Given the description of an element on the screen output the (x, y) to click on. 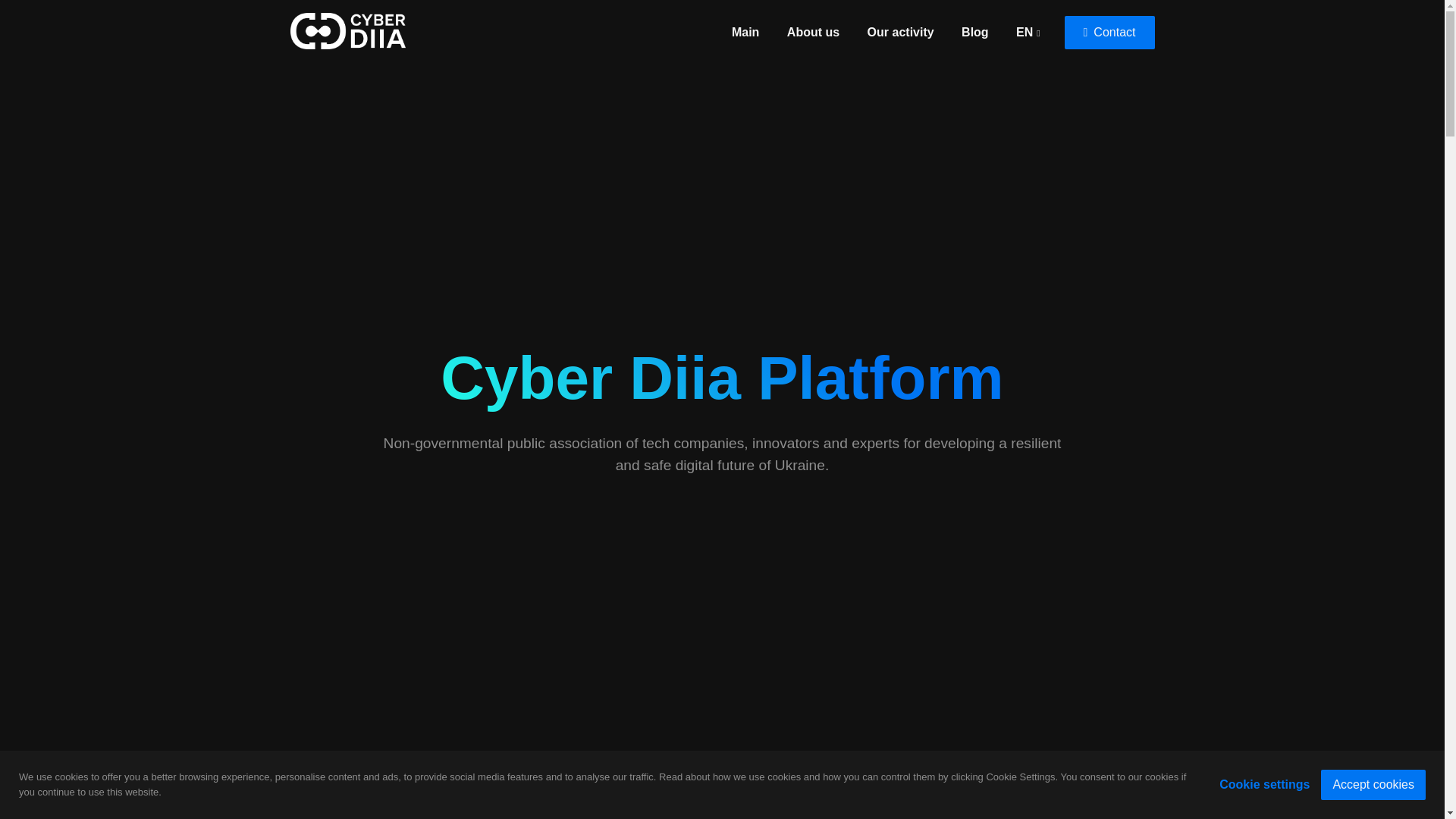
Contact (1109, 31)
EN (1027, 31)
Blog (975, 31)
Main (745, 31)
About us (812, 31)
Accept cookies (1372, 784)
Our activity (901, 31)
Cookie settings (1264, 784)
